Given the description of an element on the screen output the (x, y) to click on. 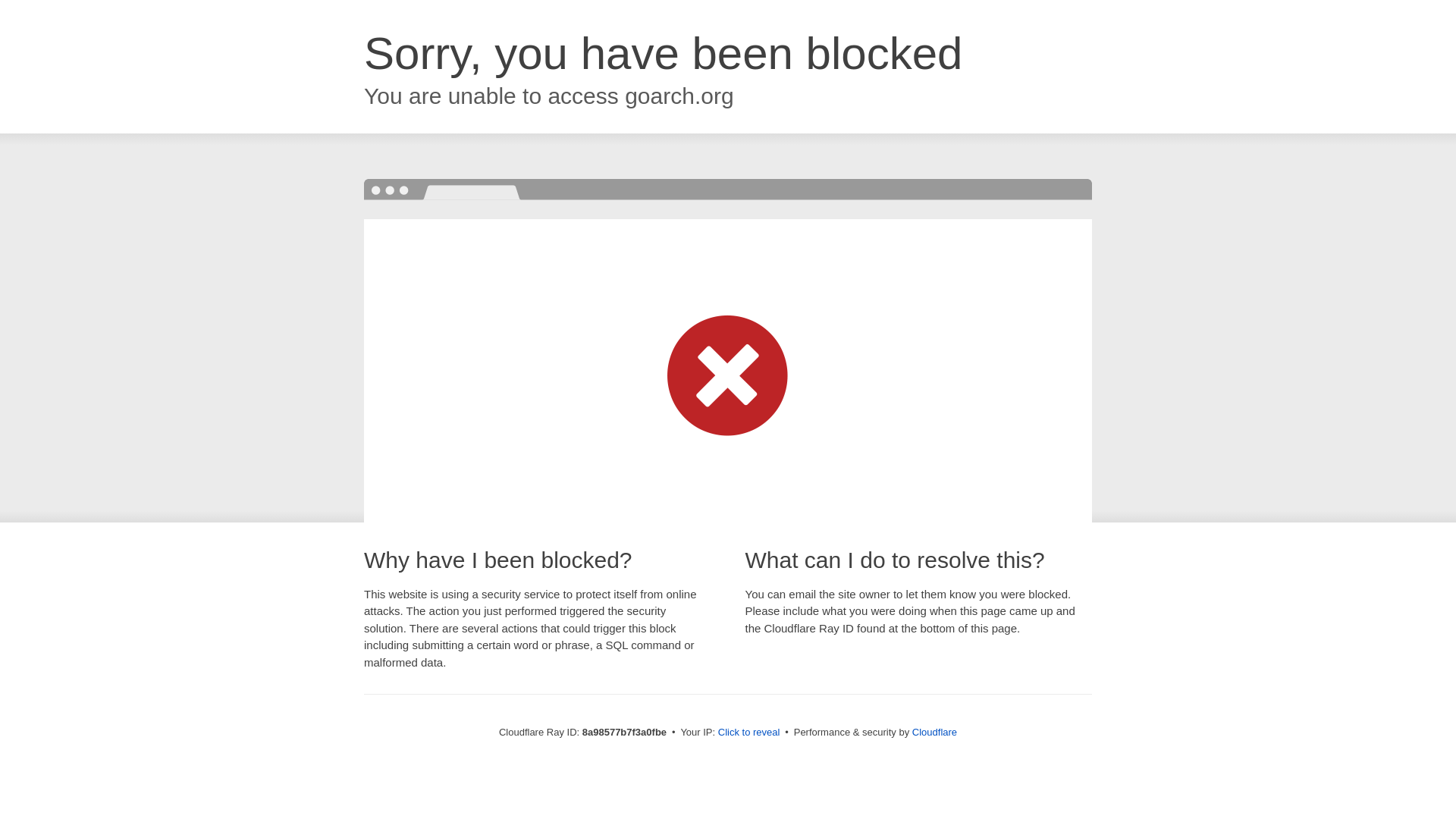
Cloudflare (934, 731)
Click to reveal (748, 732)
